Given the description of an element on the screen output the (x, y) to click on. 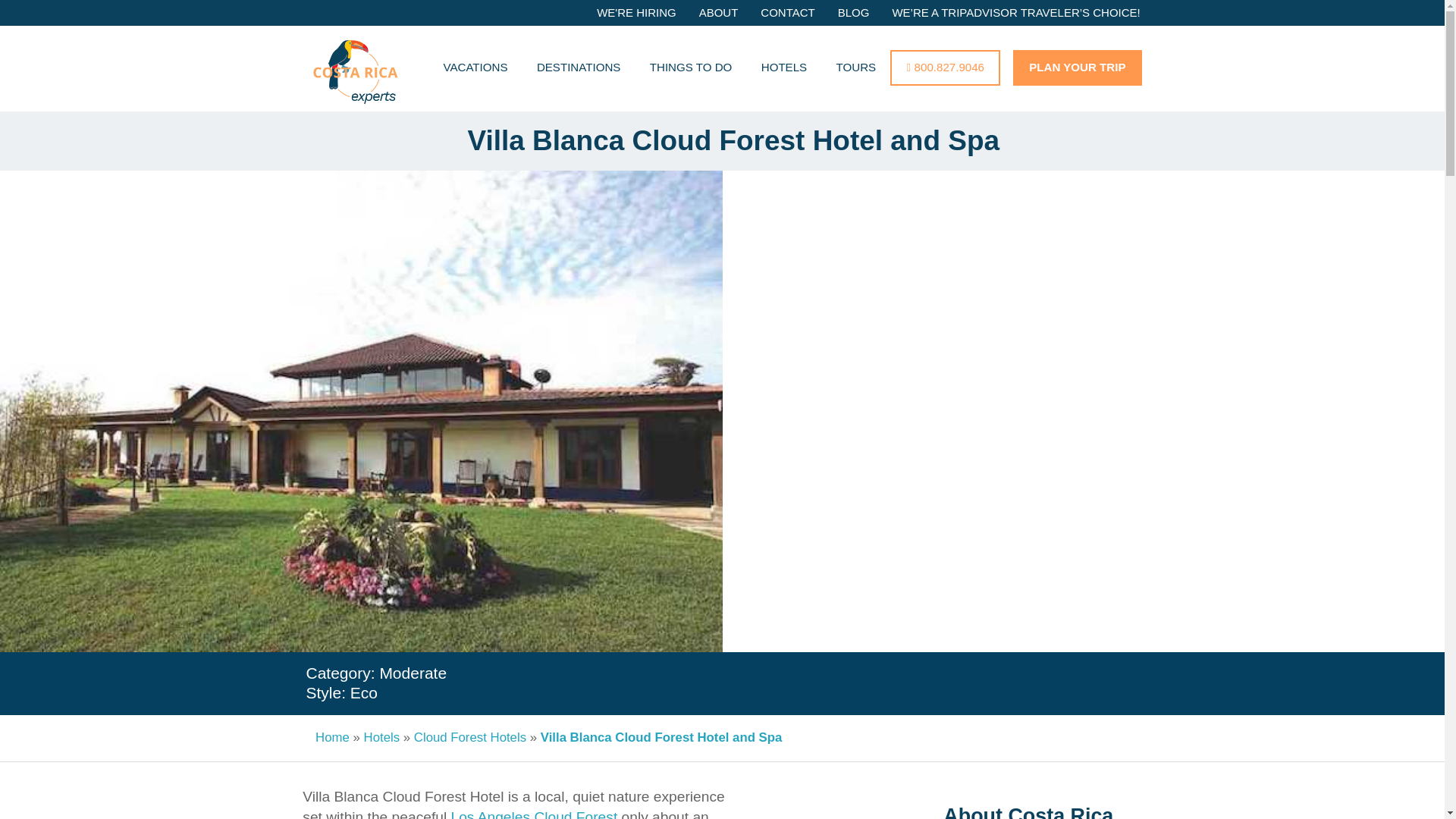
BLOG (853, 13)
Los Angeles Cloud Forest (533, 814)
ABOUT (718, 13)
Costa Rica Vacations for 35 Years (355, 77)
VACATIONS (474, 67)
DESTINATIONS (578, 67)
CONTACT (787, 13)
WE'RE HIRING (636, 13)
